Given the description of an element on the screen output the (x, y) to click on. 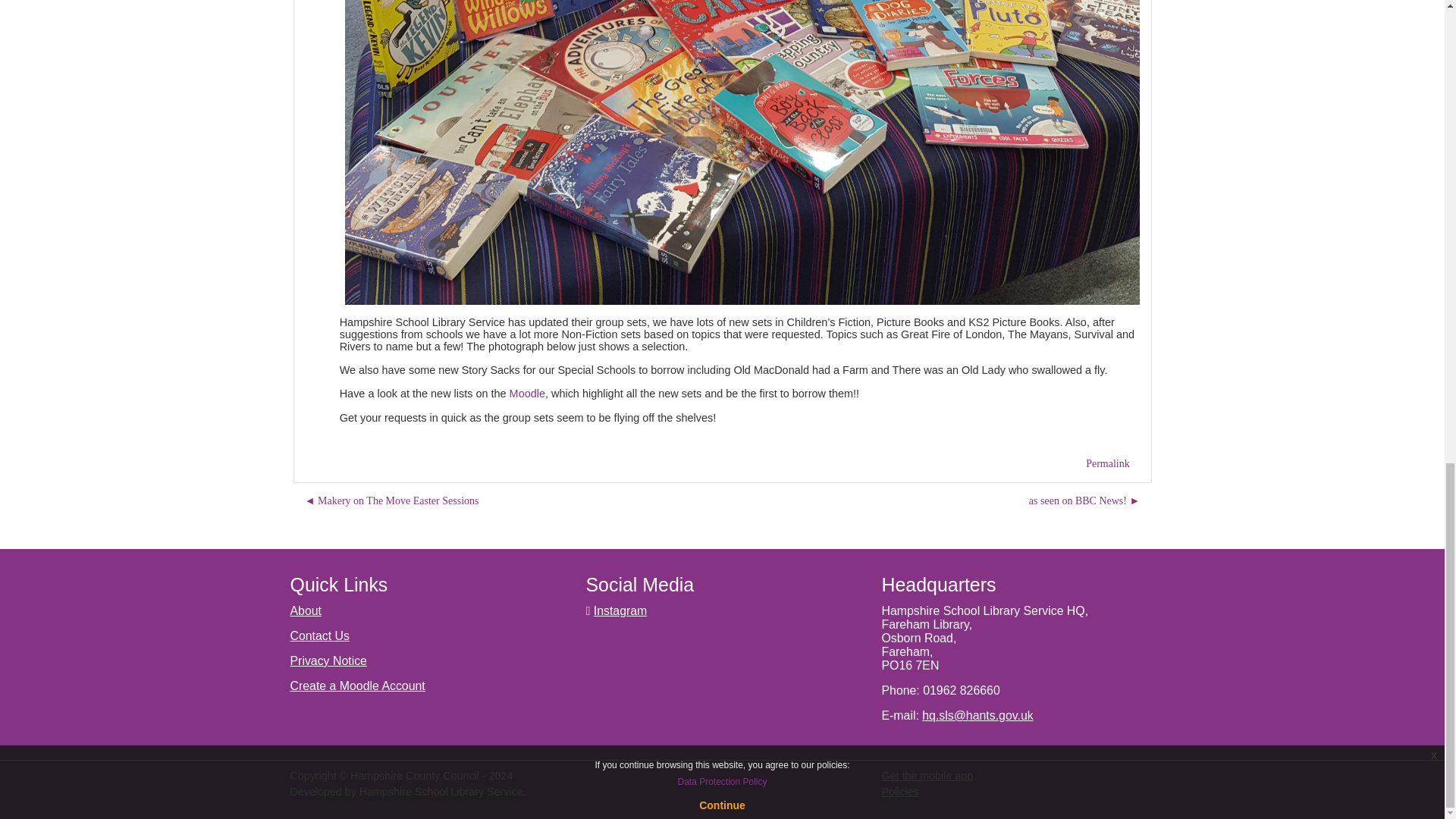
Contact Us (319, 635)
Get the mobile app (926, 775)
About (305, 610)
Moodle (526, 393)
Create a Moodle Account (357, 685)
Permanent link to this post (1107, 463)
Instagram (620, 610)
Policies (899, 791)
Privacy Notice (327, 660)
Permalink (1107, 463)
